Given the description of an element on the screen output the (x, y) to click on. 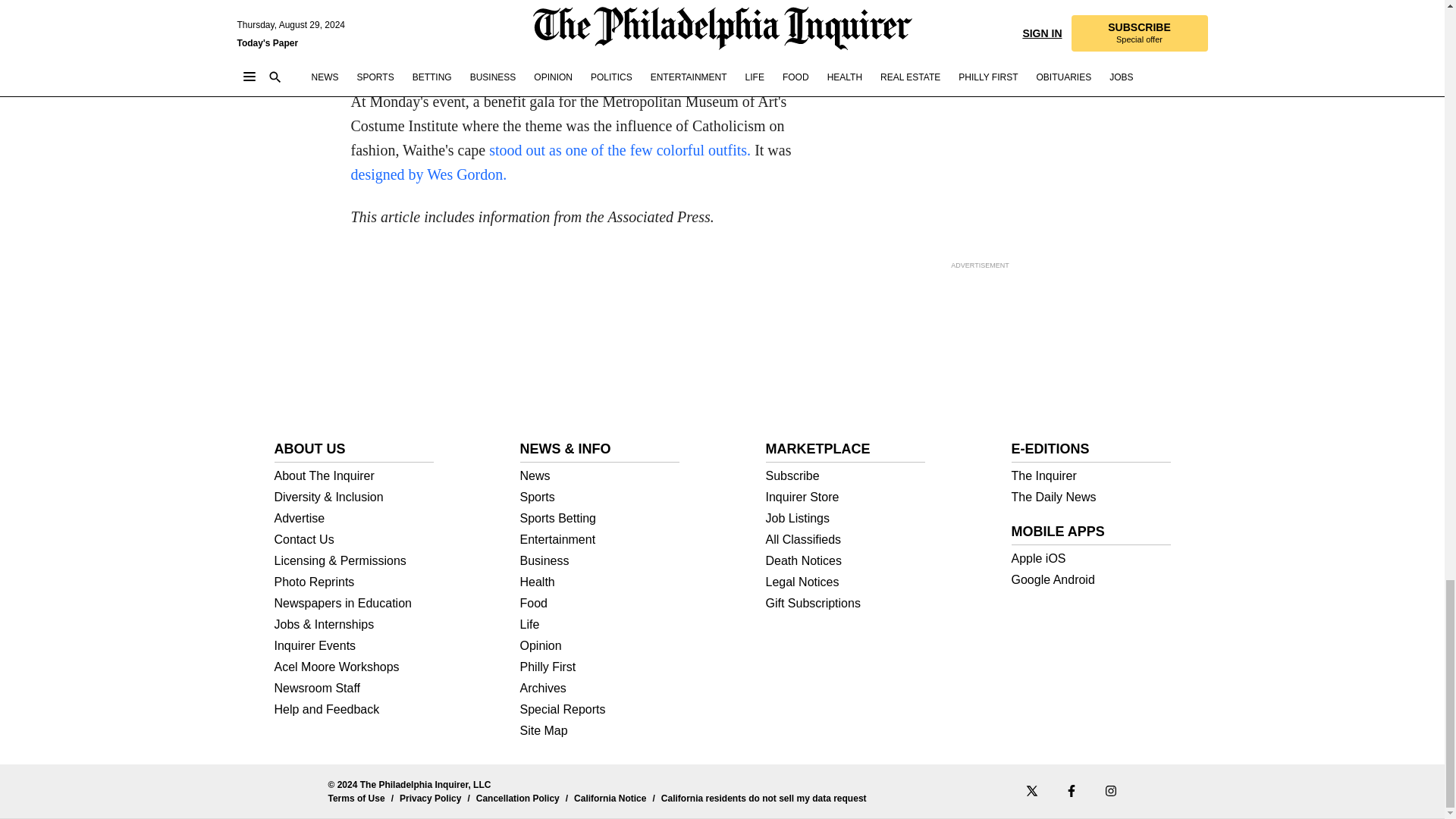
Instagram (1109, 790)
X (1030, 790)
Facebook (1070, 790)
